Given the description of an element on the screen output the (x, y) to click on. 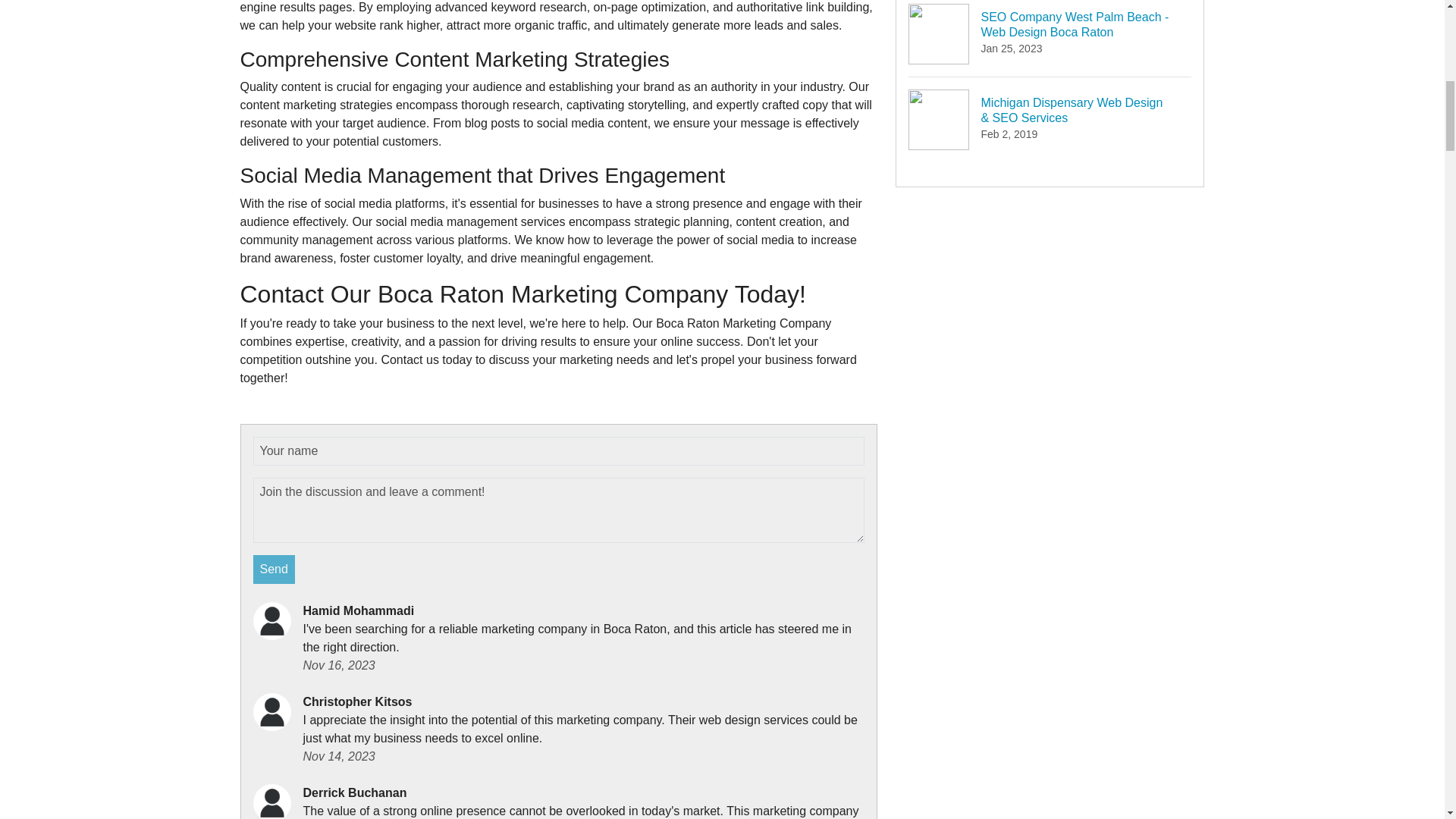
Send (274, 569)
Send (274, 569)
